Given the description of an element on the screen output the (x, y) to click on. 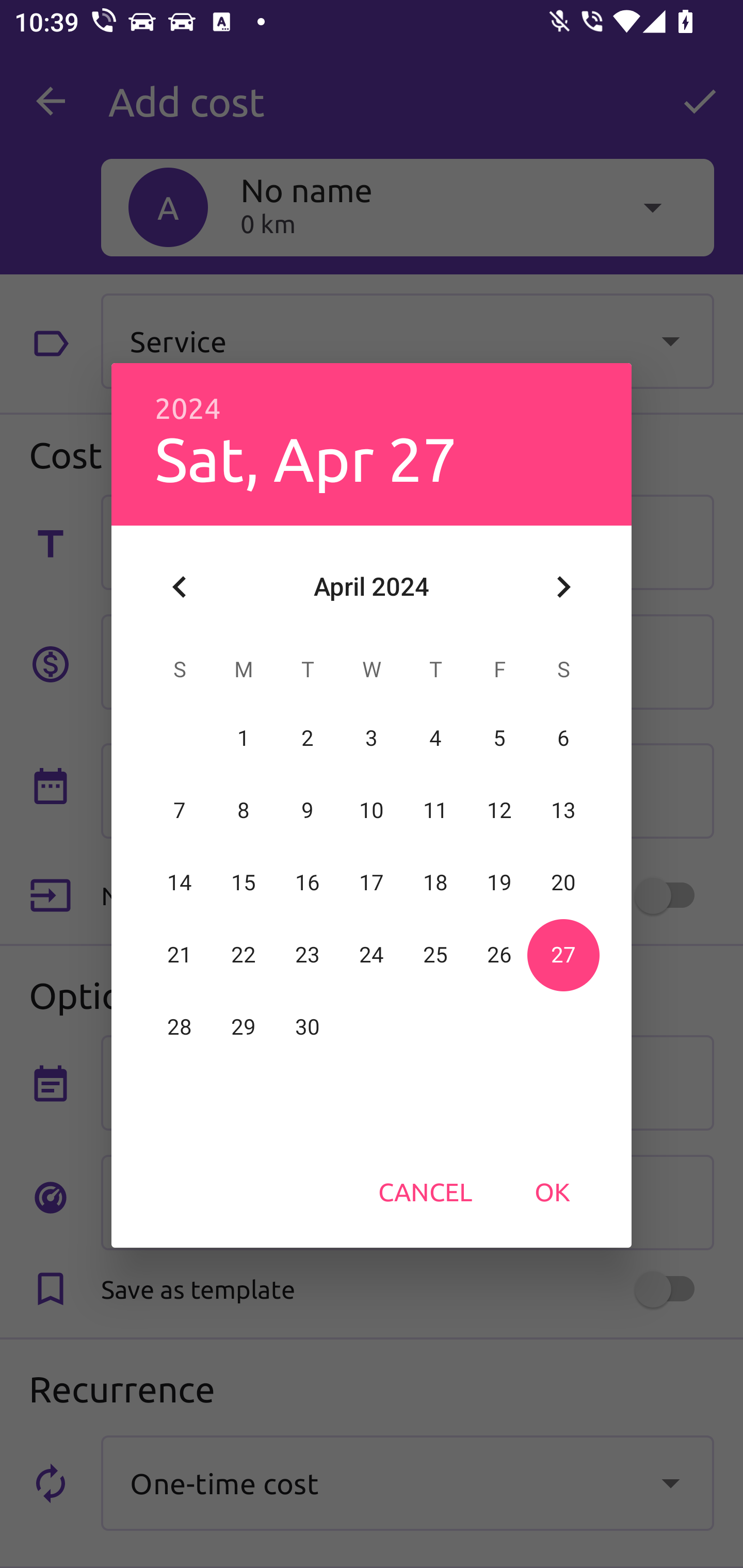
2024 (187, 408)
Sat, Apr 27 (305, 458)
Previous month (178, 587)
Next month (563, 587)
1 01 April 2024 (243, 738)
2 02 April 2024 (307, 738)
3 03 April 2024 (371, 738)
4 04 April 2024 (435, 738)
5 05 April 2024 (499, 738)
6 06 April 2024 (563, 738)
7 07 April 2024 (179, 810)
8 08 April 2024 (243, 810)
9 09 April 2024 (307, 810)
10 10 April 2024 (371, 810)
11 11 April 2024 (435, 810)
12 12 April 2024 (499, 810)
13 13 April 2024 (563, 810)
14 14 April 2024 (179, 882)
15 15 April 2024 (243, 882)
16 16 April 2024 (307, 882)
17 17 April 2024 (371, 882)
18 18 April 2024 (435, 882)
19 19 April 2024 (499, 882)
20 20 April 2024 (563, 882)
21 21 April 2024 (179, 954)
22 22 April 2024 (243, 954)
23 23 April 2024 (307, 954)
24 24 April 2024 (371, 954)
25 25 April 2024 (435, 954)
26 26 April 2024 (499, 954)
27 27 April 2024 (563, 954)
28 28 April 2024 (179, 1026)
29 29 April 2024 (243, 1026)
30 30 April 2024 (307, 1026)
CANCEL (425, 1191)
OK (552, 1191)
